Given the description of an element on the screen output the (x, y) to click on. 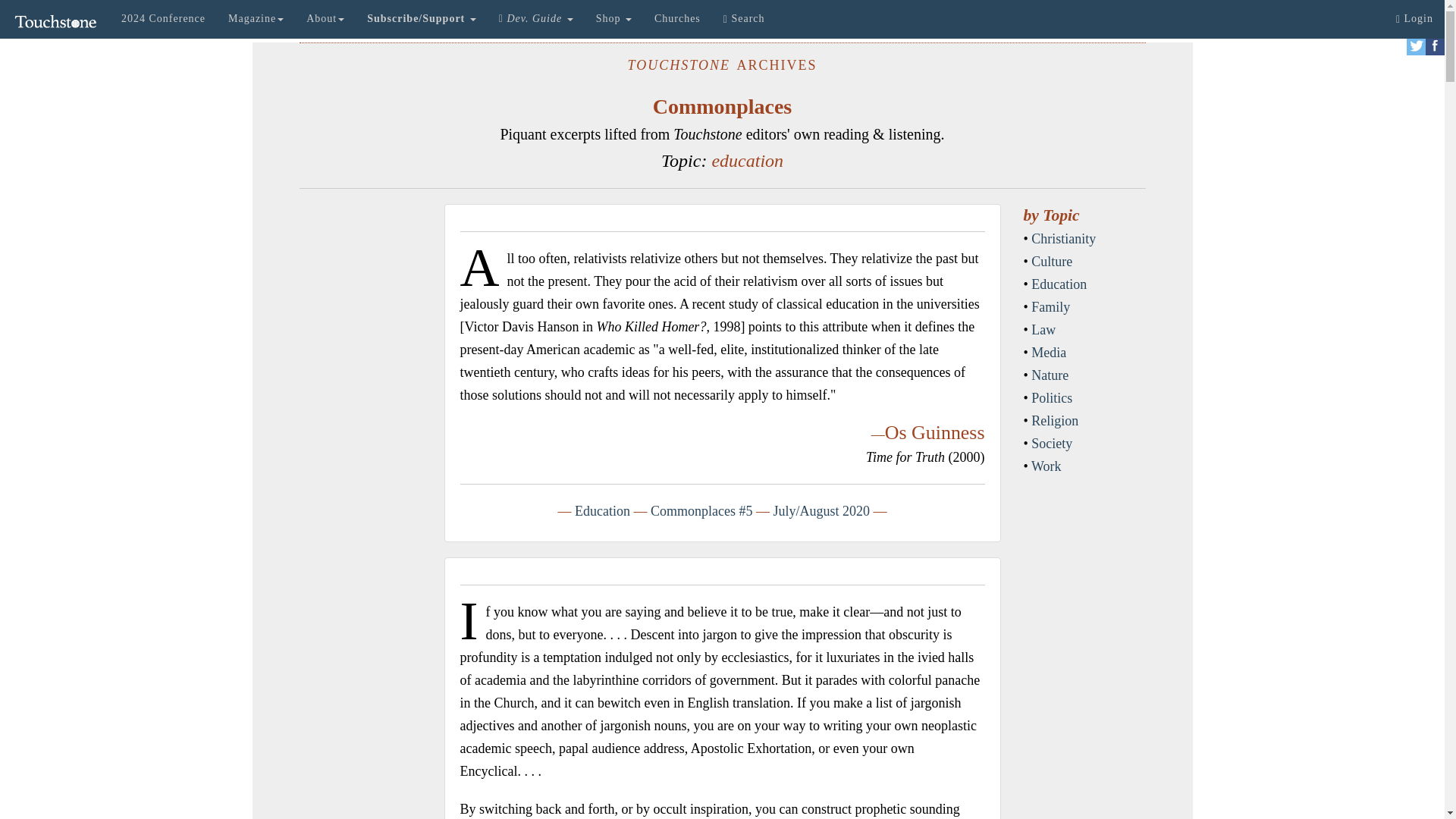
Magazine (255, 18)
Shop (614, 18)
About (325, 18)
Search (743, 18)
2024 Conference (163, 18)
Dev. Guide (536, 18)
Education (602, 510)
Churches (677, 18)
